Given the description of an element on the screen output the (x, y) to click on. 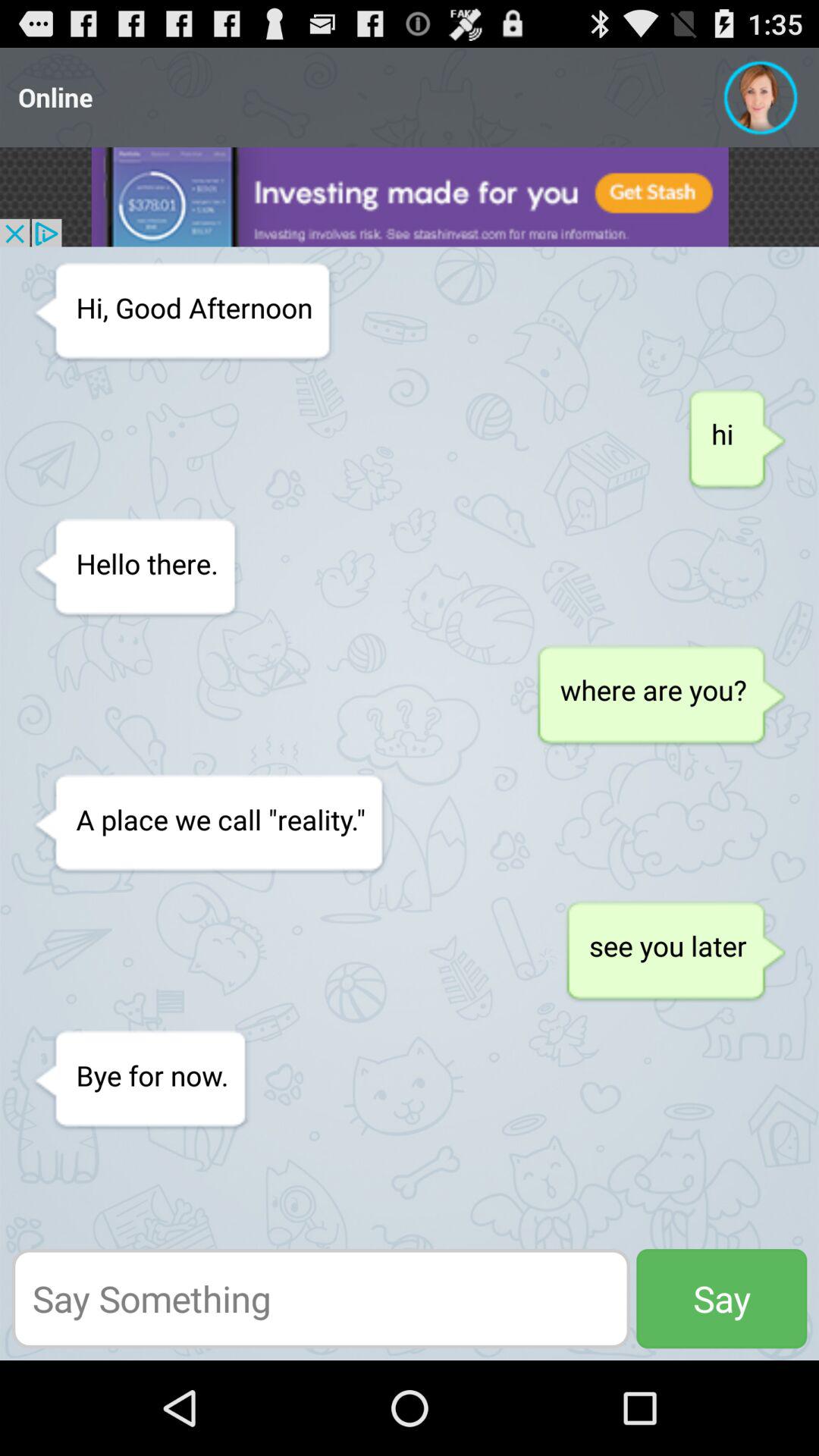
ask the command (320, 1298)
